Given the description of an element on the screen output the (x, y) to click on. 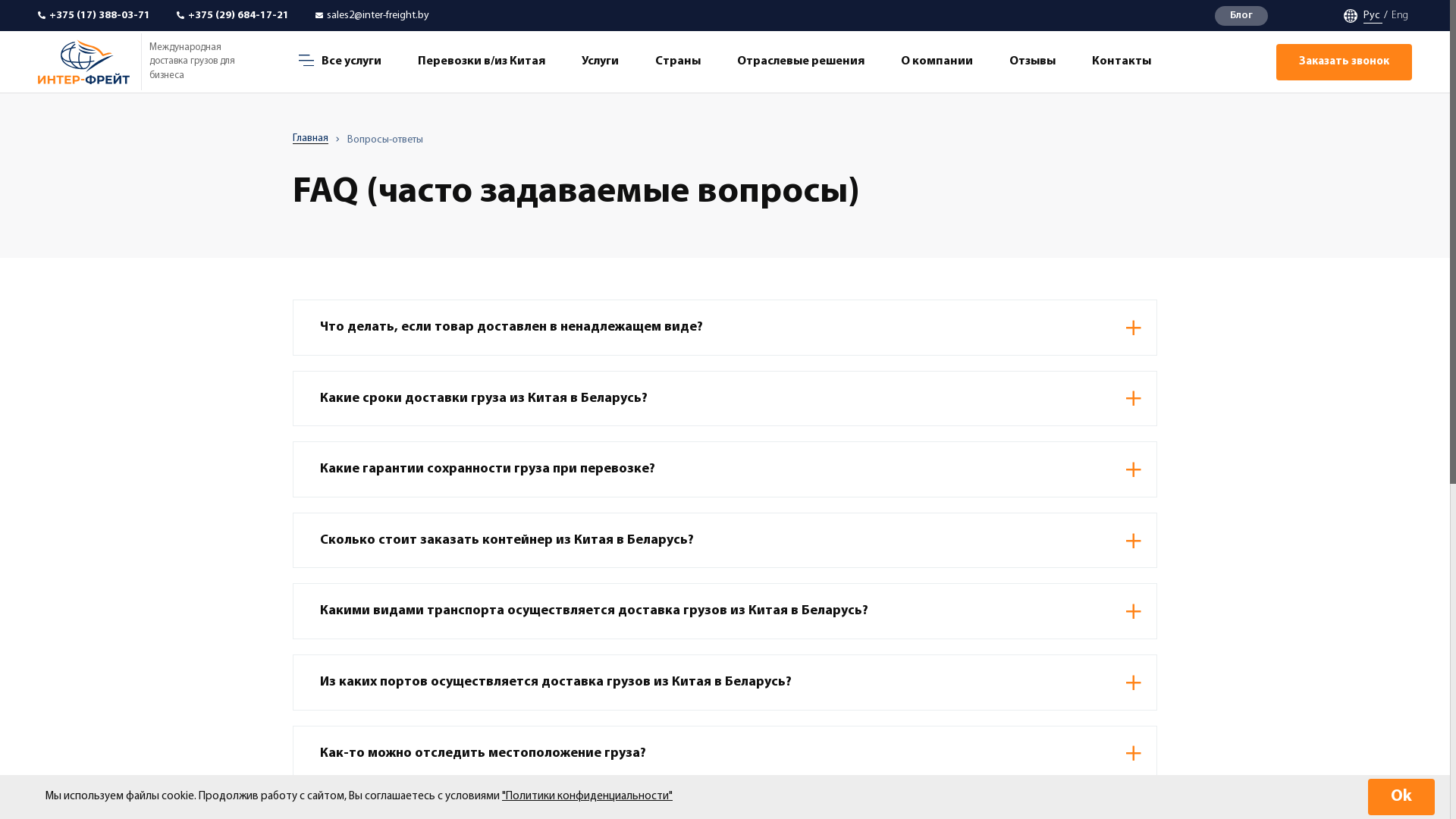
sales2@inter-freight.by Element type: text (902, 603)
NarisuemVse.by Element type: text (1106, 716)
+375 (29) 684-17-21 Element type: text (705, 603)
+375 (17) 388-03-71 Element type: text (93, 15)
+375 (17) 388-03-71 Element type: text (543, 603)
Instagram Element type: hover (1150, 603)
+375 (29) 684-17-21 Element type: text (232, 15)
sales2@inter-freight.by Element type: text (372, 15)
LinkedIn Element type: hover (1113, 603)
Ok Element type: text (1401, 796)
Eng Element type: text (1397, 15)
